Given the description of an element on the screen output the (x, y) to click on. 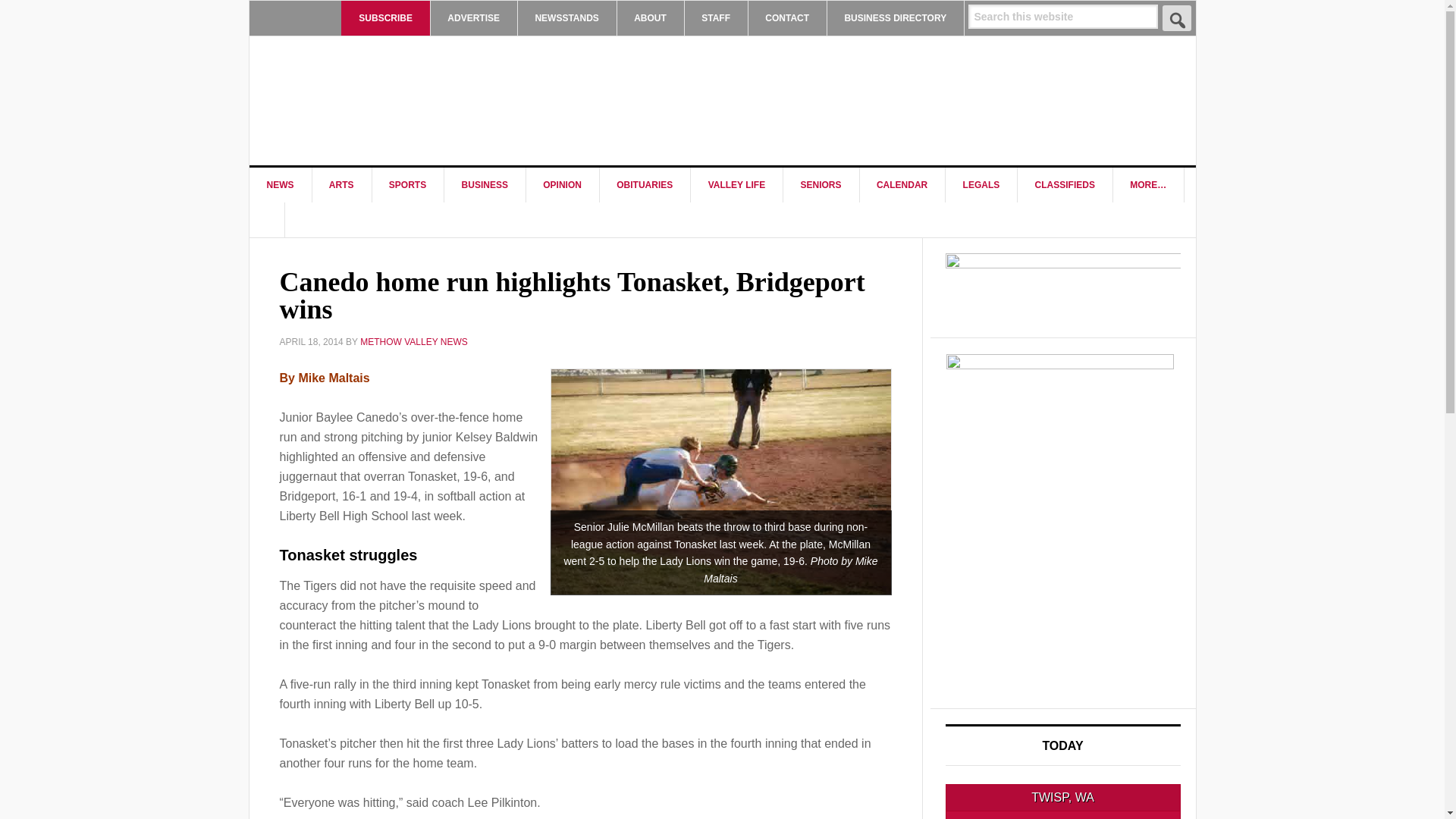
OBITUARIES (644, 184)
NEWSSTANDS (565, 18)
ABOUT (649, 18)
SPORTS (407, 184)
BUSINESS DIRECTORY (895, 18)
METHOW VALLEY NEWS (377, 100)
VALLEY LIFE (737, 184)
NEWS (279, 184)
LEGALS (980, 184)
